Given the description of an element on the screen output the (x, y) to click on. 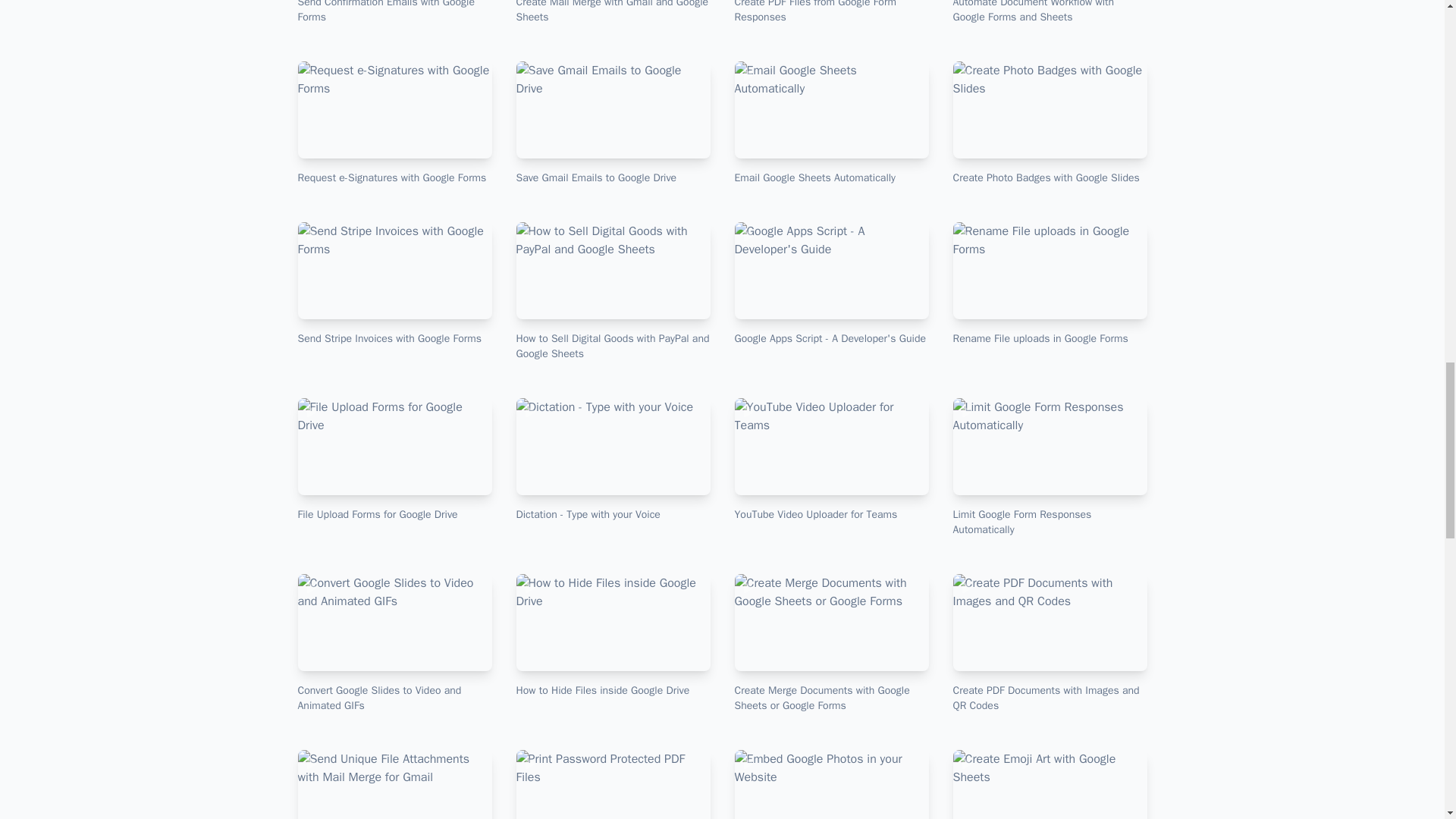
How to Sell Digital Goods with PayPal and Google Sheets (612, 291)
Google Apps Script - A Developer's Guide (830, 283)
YouTube Video Uploader for Teams (830, 460)
Create Mail Merge with Gmail and Google Sheets (612, 12)
Create PDF Files from Google Form Responses (830, 12)
Request e-Signatures with Google Forms (394, 123)
Request e-Signatures with Google Forms (394, 123)
Create Photo Badges with Google Slides (1049, 123)
Create Mail Merge with Gmail and Google Sheets (612, 12)
Send Confirmation Emails with Google Forms (394, 12)
How to Sell Digital Goods with PayPal and Google Sheets (612, 291)
Email Google Sheets Automatically (830, 123)
Dictation - Type with your Voice (612, 460)
Send Confirmation Emails with Google Forms (394, 12)
Save Gmail Emails to Google Drive (612, 123)
